Given the description of an element on the screen output the (x, y) to click on. 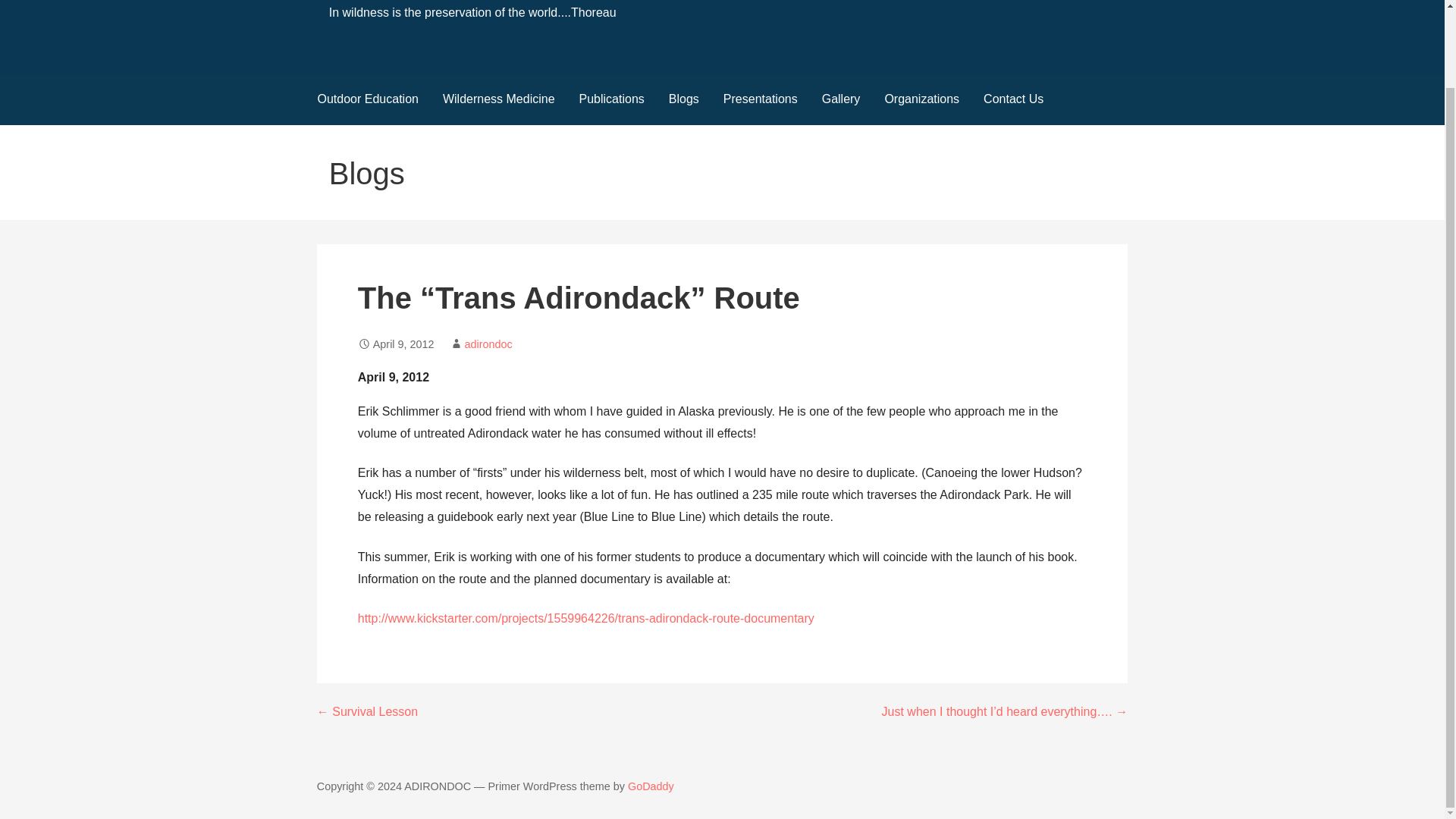
Outdoor Education (366, 99)
Publications (611, 99)
Contact Us (1013, 99)
Presentations (760, 99)
Wilderness Medicine (498, 99)
GoDaddy (650, 786)
Gallery (840, 99)
Posts by adirondoc (488, 344)
Blogs (683, 99)
adirondoc (488, 344)
